Given the description of an element on the screen output the (x, y) to click on. 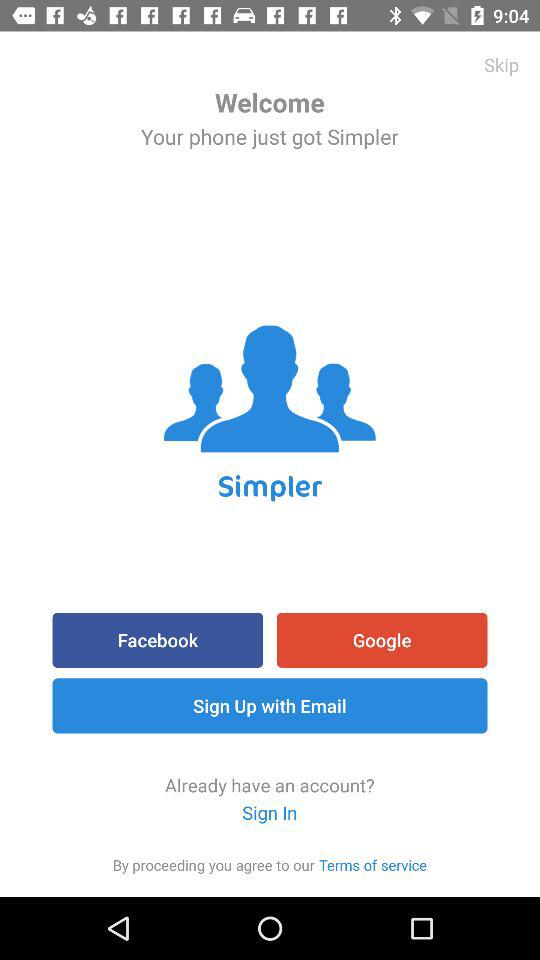
choose the facebook item (157, 639)
